Given the description of an element on the screen output the (x, y) to click on. 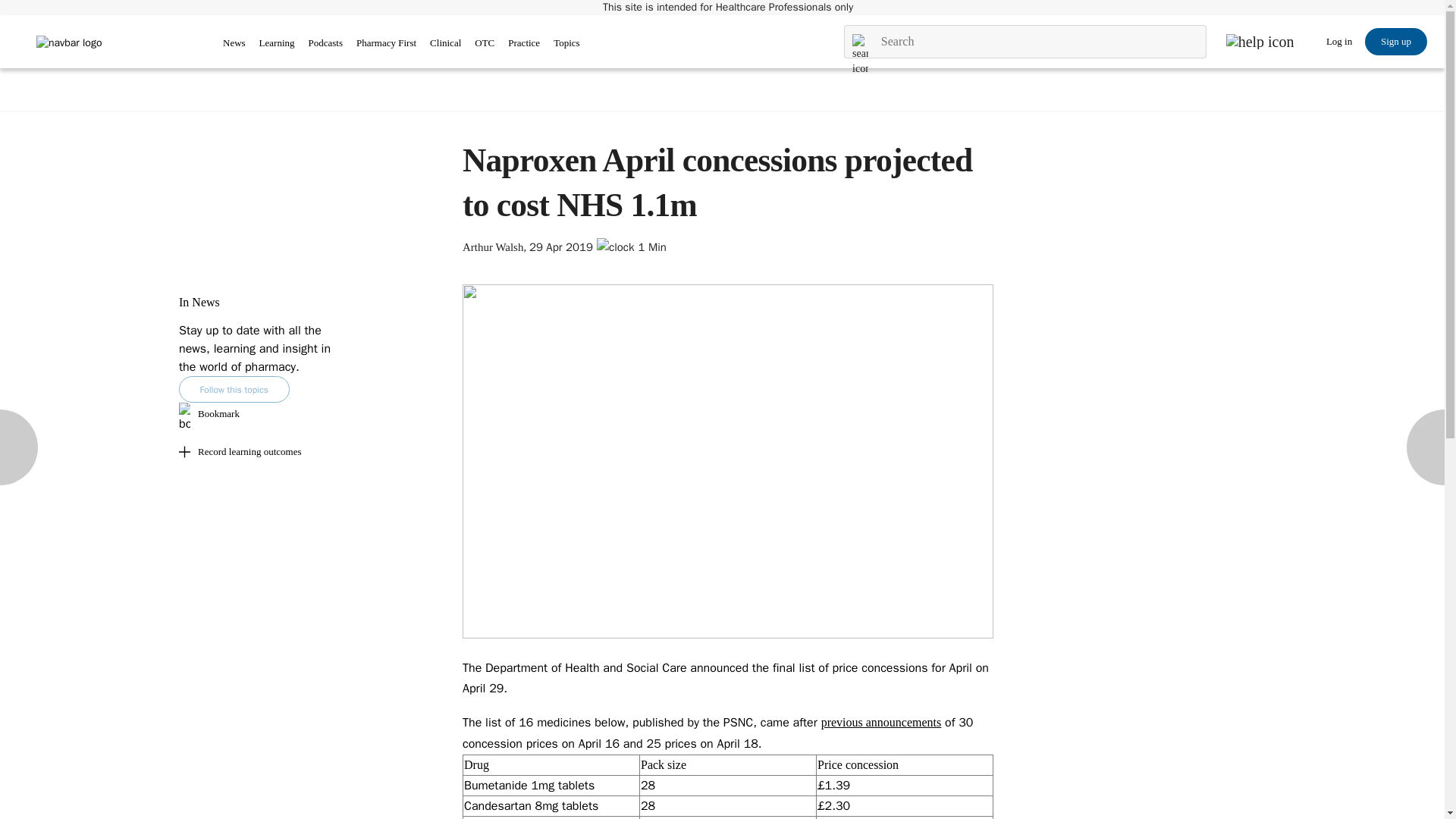
Learning (277, 42)
News (234, 42)
Topics (566, 42)
Pharmacy First (386, 42)
